Given the description of an element on the screen output the (x, y) to click on. 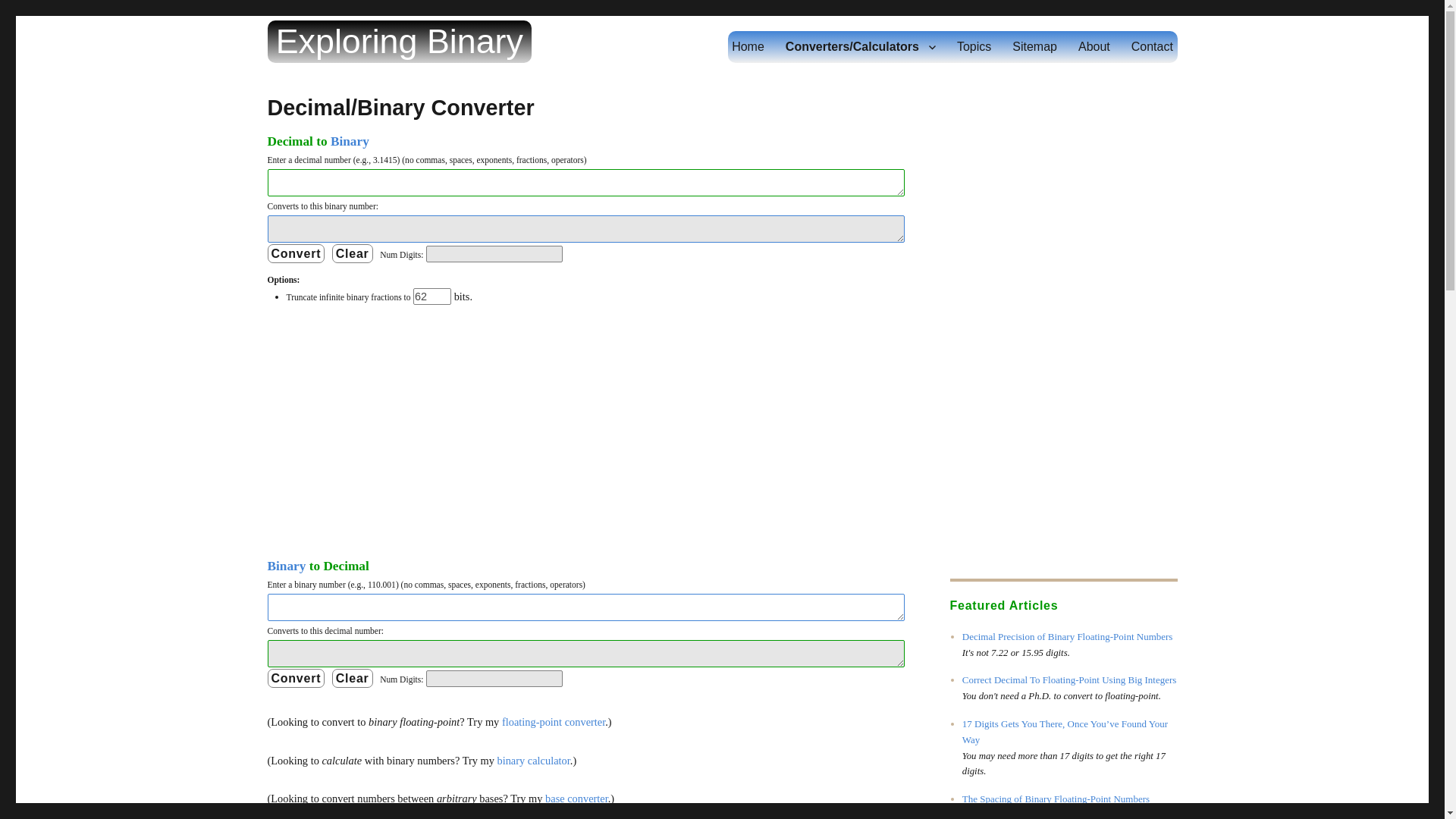
The Spacing of Binary Floating-Point Numbers (1056, 798)
About (1094, 47)
Decimal Precision of Binary Floating-Point Numbers (1067, 636)
Home (747, 47)
base converter (576, 798)
Convert (295, 678)
Convert (295, 253)
Convert (295, 253)
Topics (973, 47)
Sitemap (1034, 47)
62 (432, 296)
Correct Decimal To Floating-Point Using Big Integers (1069, 679)
Convert (295, 678)
floating-point converter (553, 721)
Clear (351, 678)
